Given the description of an element on the screen output the (x, y) to click on. 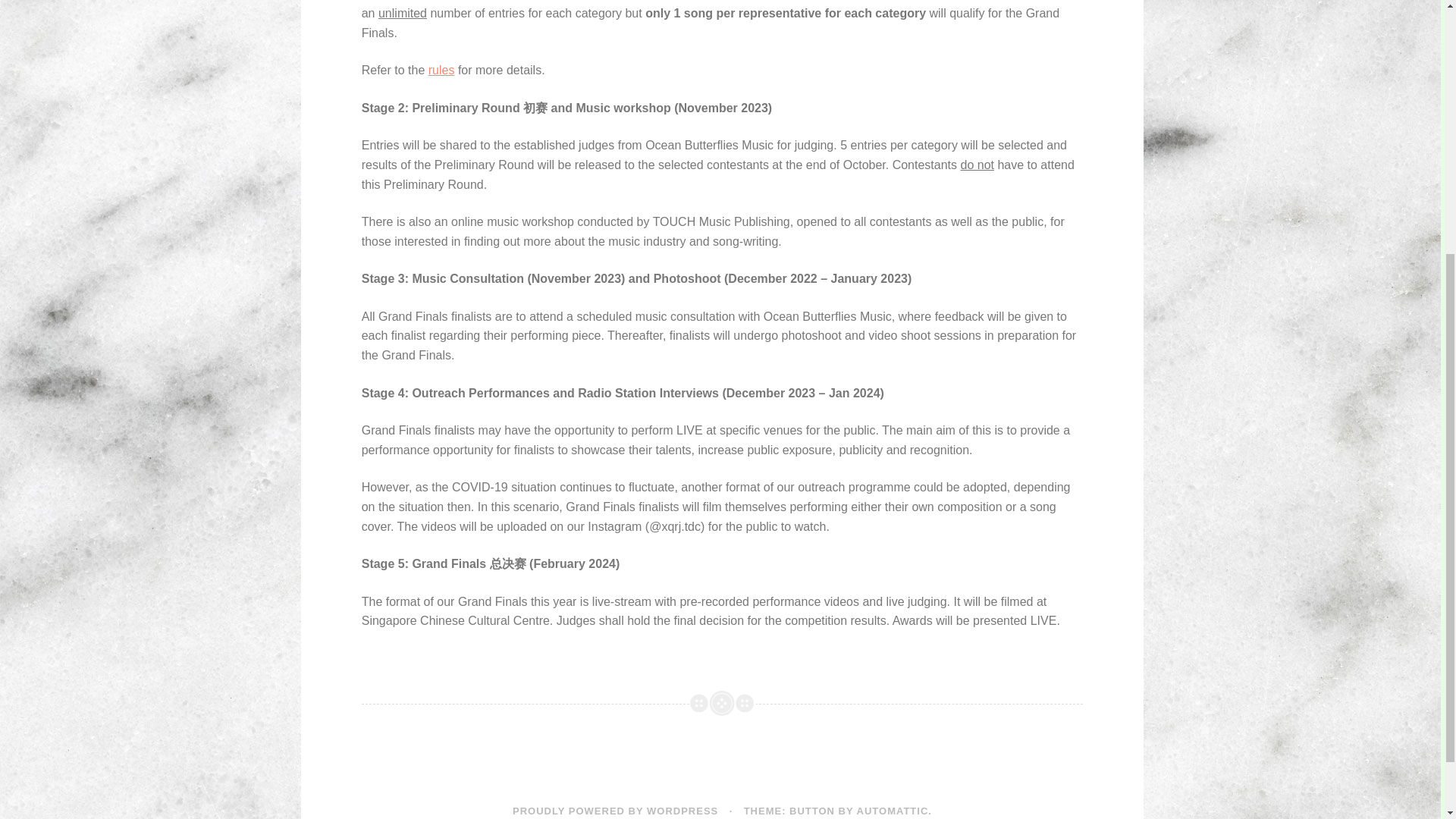
AUTOMATTIC (892, 809)
PROUDLY POWERED BY WORDPRESS (614, 809)
rules (441, 69)
